Given the description of an element on the screen output the (x, y) to click on. 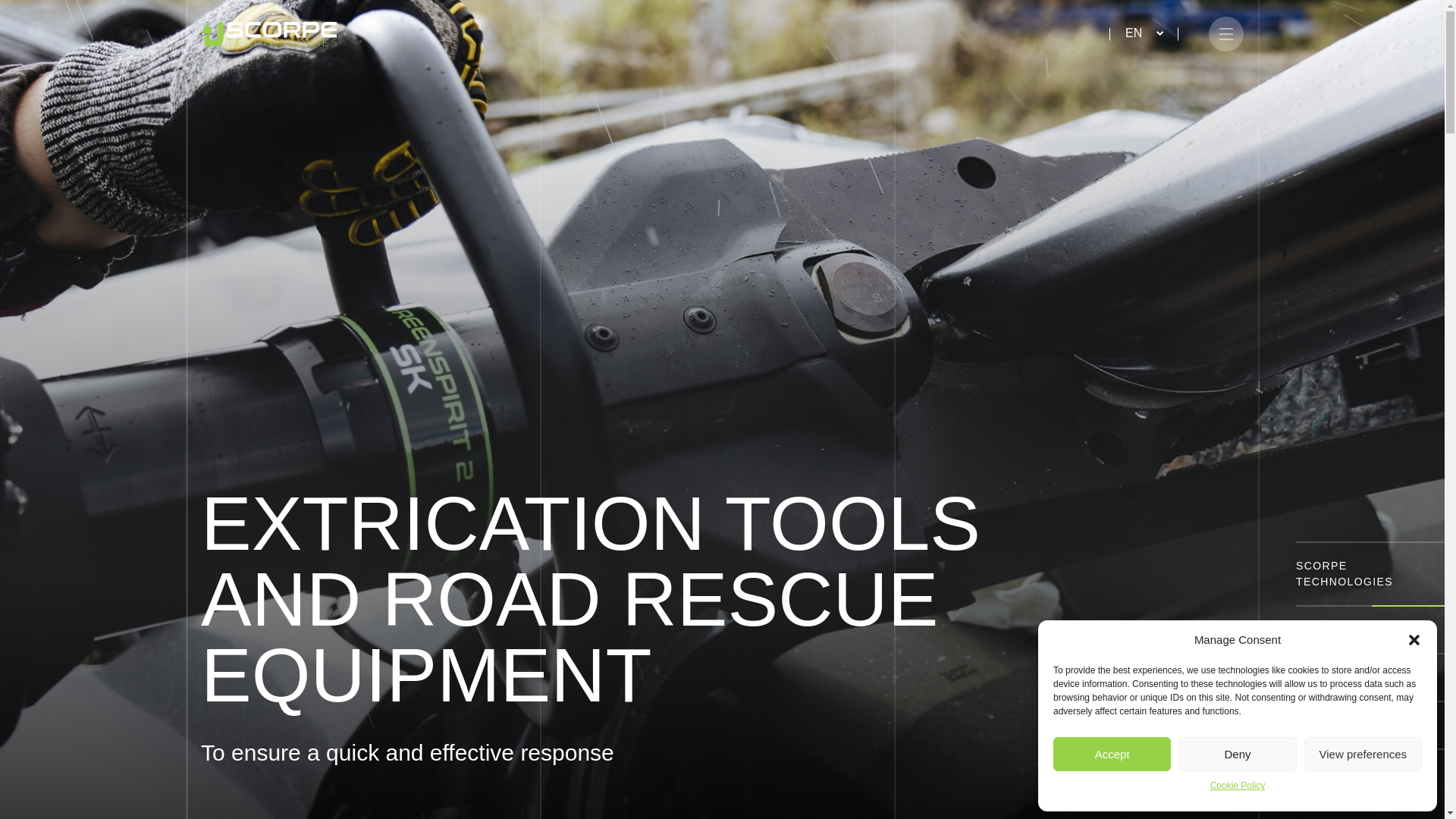
Open menu (1225, 33)
Open search bar (1087, 33)
Cookie Policy (1237, 789)
Accept (1111, 754)
View preferences (1363, 754)
Deny (1236, 754)
